Given the description of an element on the screen output the (x, y) to click on. 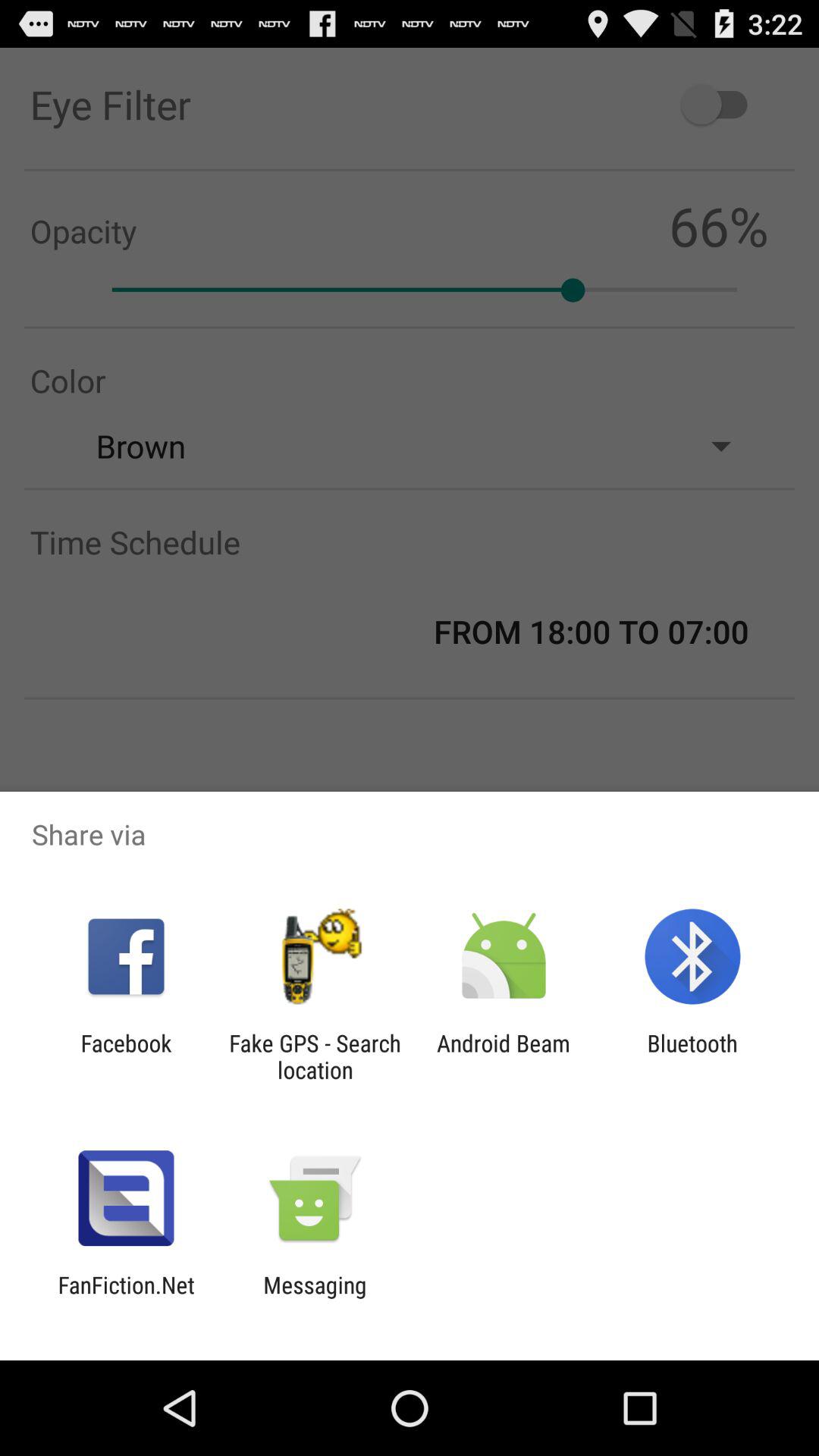
click the item to the left of the messaging icon (126, 1298)
